Given the description of an element on the screen output the (x, y) to click on. 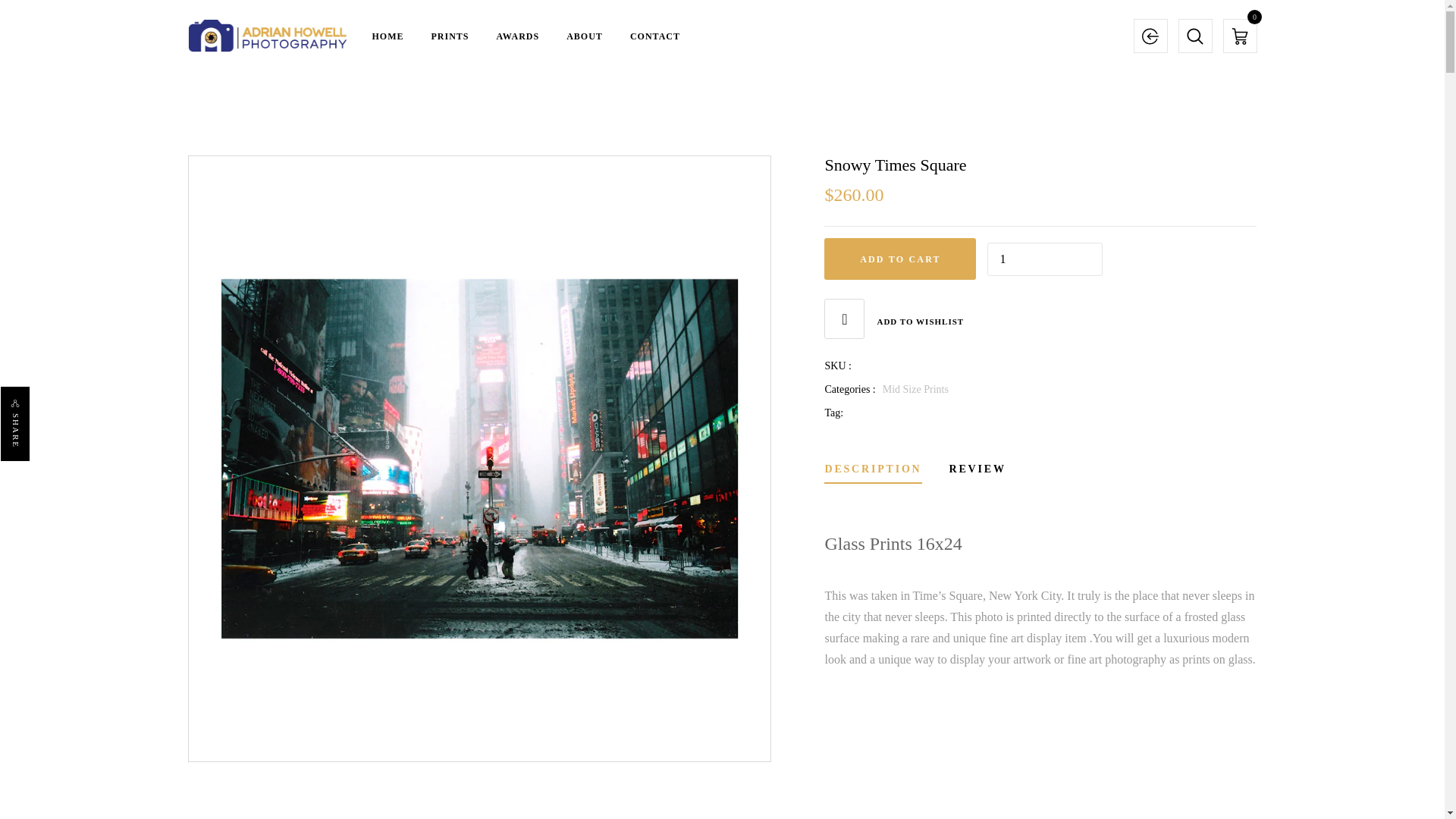
HOME (387, 35)
CONTACT (654, 35)
HOME (387, 35)
AWARDS (518, 35)
CONTACT (654, 35)
PRINTS (449, 35)
PRINTS (449, 35)
ABOUT (584, 35)
AWARDS (518, 35)
ABOUT (584, 35)
1 (1044, 259)
Qty (1044, 259)
